Given the description of an element on the screen output the (x, y) to click on. 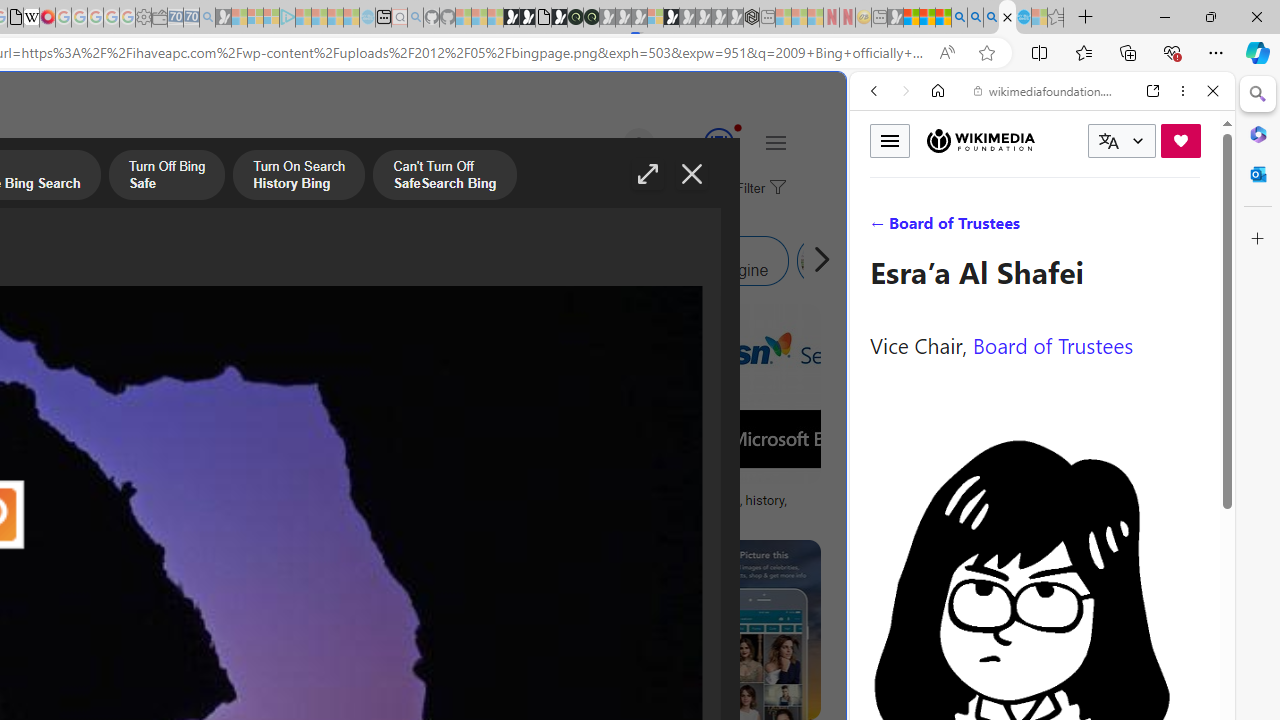
Preferences (1189, 228)
Bing Logo, symbol, meaning, history, PNG, brand (695, 508)
Sign in to your account - Sleeping (655, 17)
Target page - Wikipedia (31, 17)
Wiktionary (1034, 669)
MediaWiki (47, 17)
Turn On Search History Bing (299, 177)
Open link in new tab (1153, 91)
Microsoft Start Gaming - Sleeping (223, 17)
Animation (737, 127)
